Given the description of an element on the screen output the (x, y) to click on. 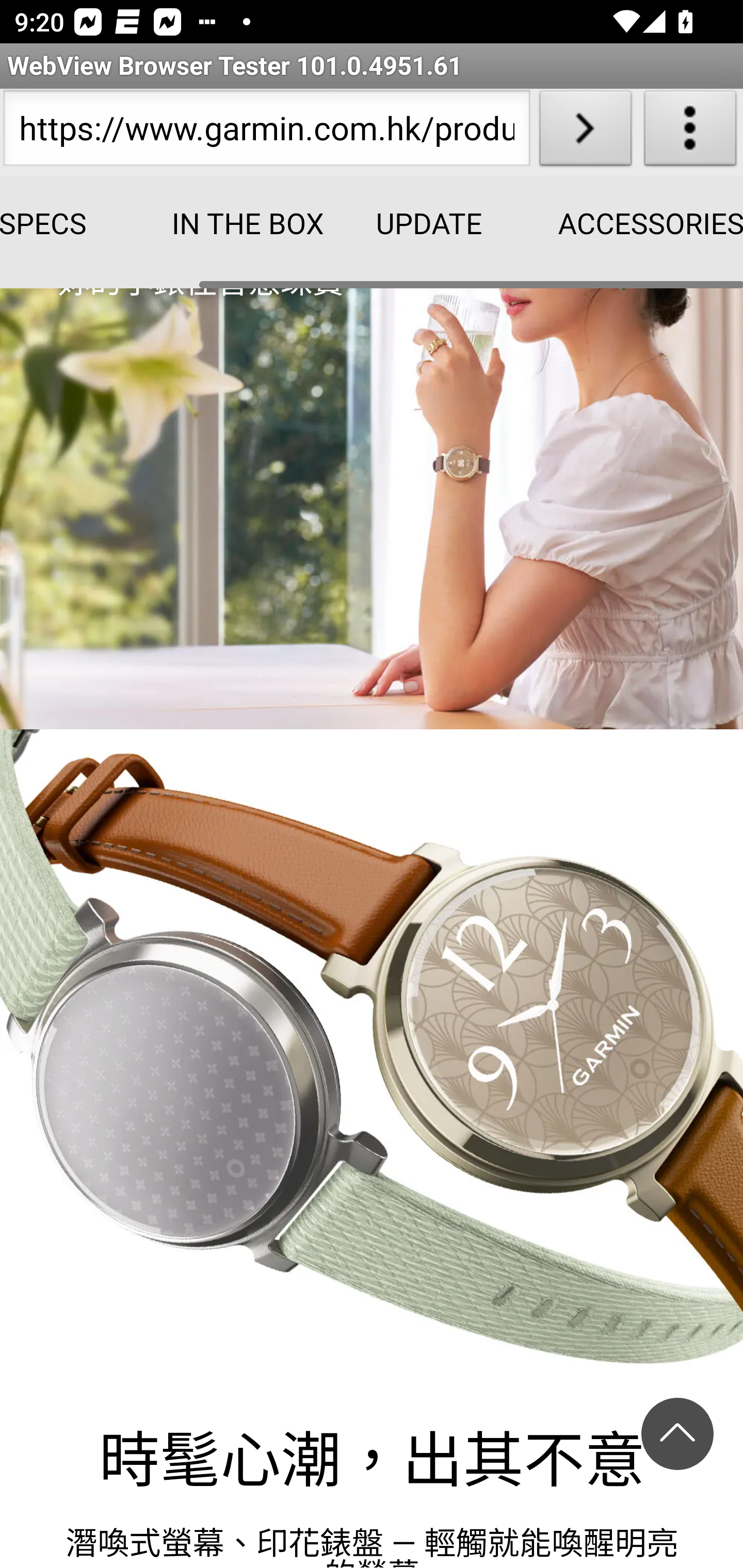
Load URL (585, 132)
About WebView (690, 132)
SPECS (68, 224)
IN THE BOX (235, 224)
UPDATE (429, 224)
ACCESSORIES (621, 224)
Scroll Back to Top Back to Top (676, 1439)
